Given the description of an element on the screen output the (x, y) to click on. 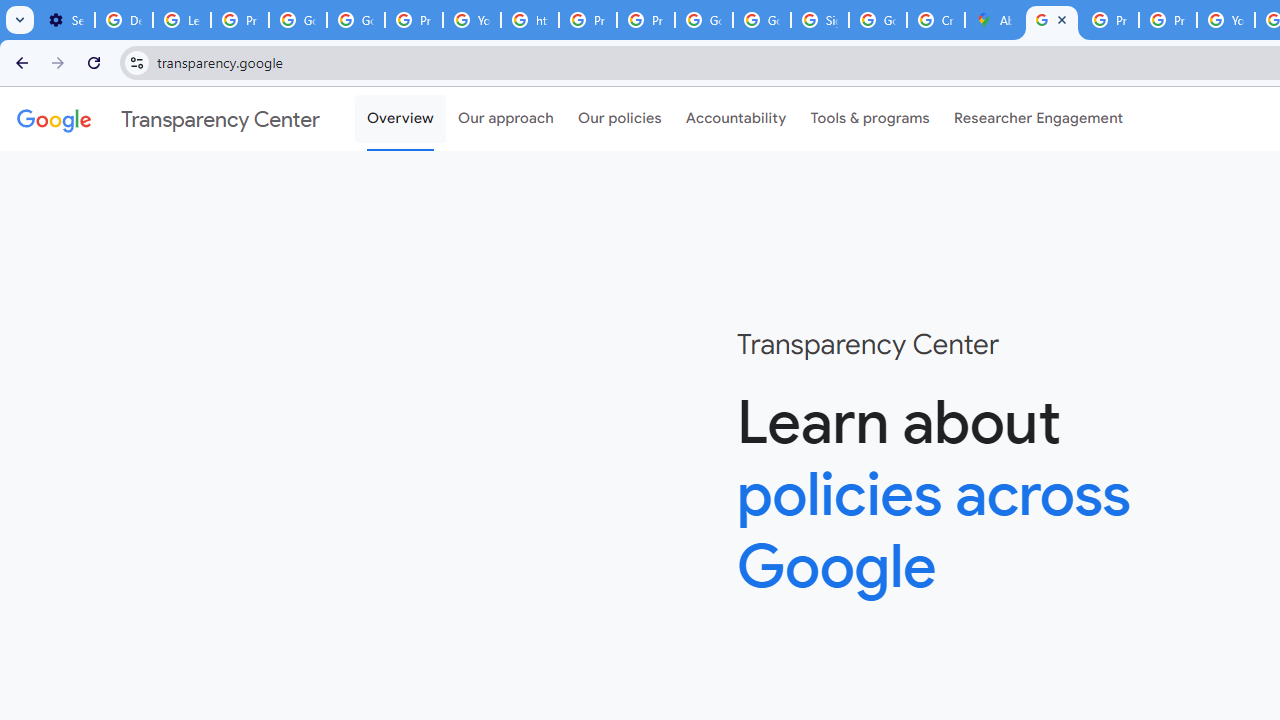
Delete photos & videos - Computer - Google Photos Help (123, 20)
YouTube (471, 20)
Accountability (735, 119)
https://scholar.google.com/ (529, 20)
